Given the description of an element on the screen output the (x, y) to click on. 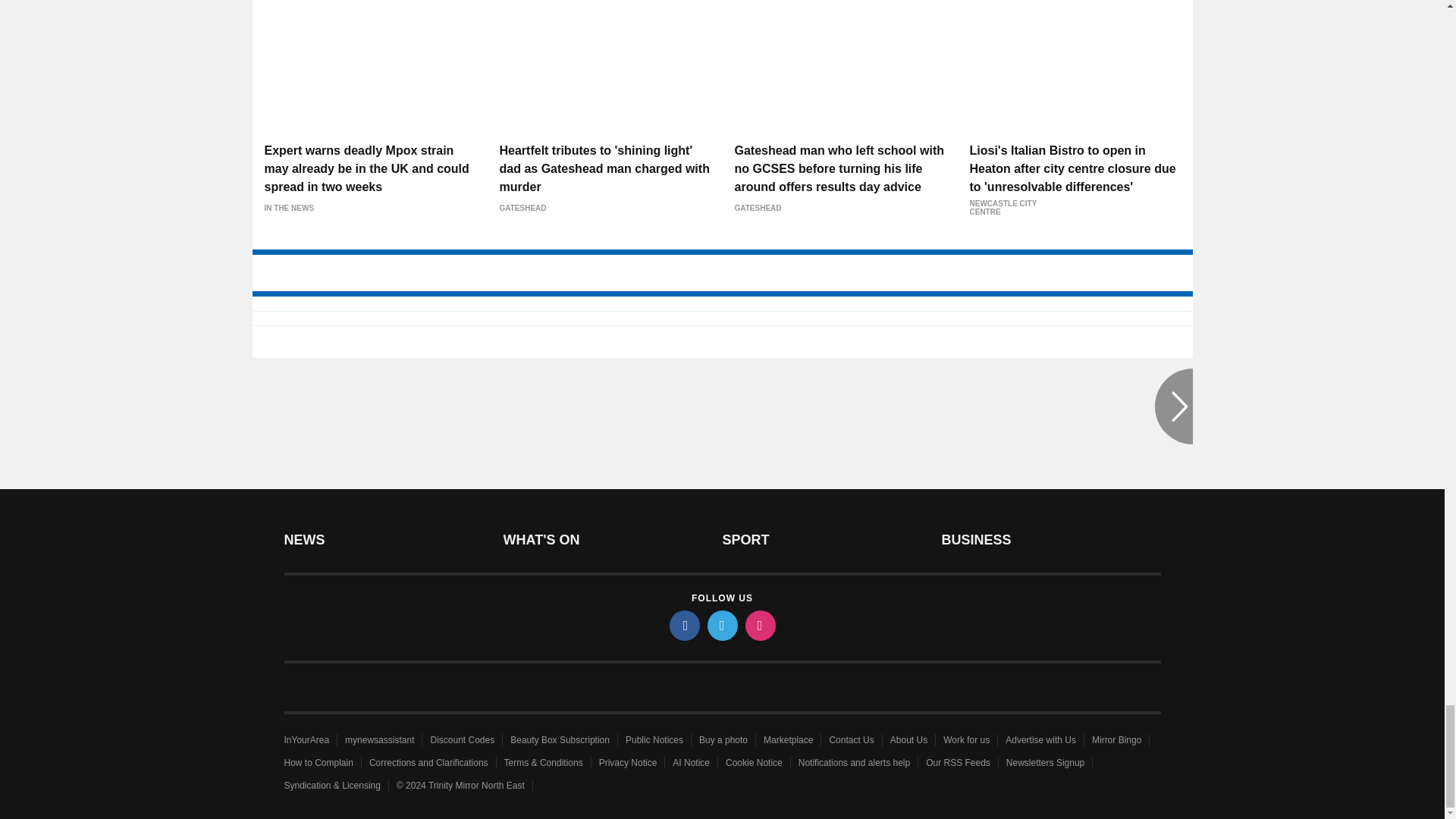
facebook (683, 625)
twitter (721, 625)
instagram (759, 625)
